Given the description of an element on the screen output the (x, y) to click on. 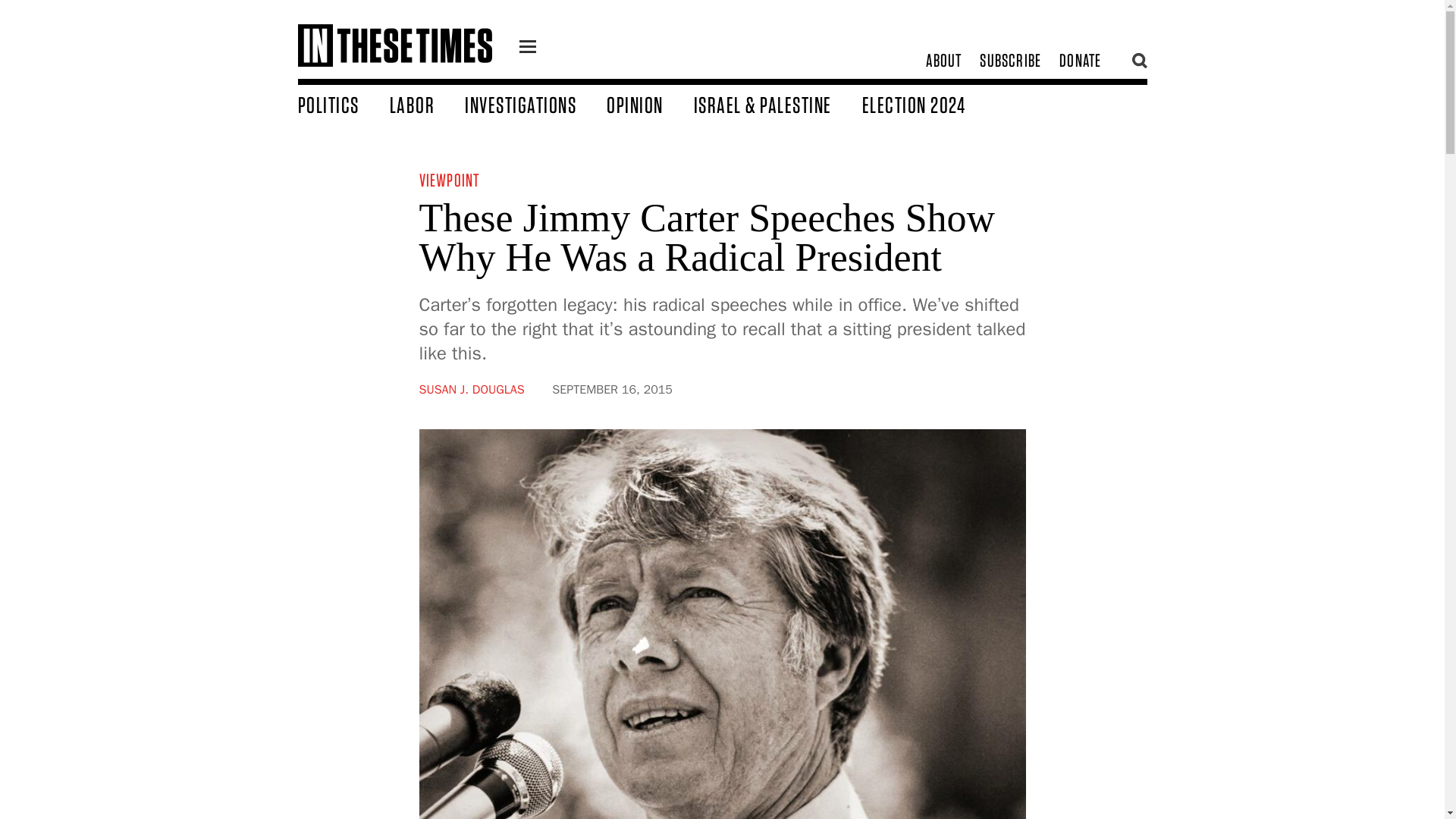
INVESTIGATIONS (535, 103)
POLITICS (342, 103)
SUBSCRIBE (1010, 60)
ELECTION 2024 (928, 103)
ABOUT (944, 60)
SUSAN J. DOUGLAS (471, 389)
VIEWPOINT (449, 179)
OPINION (650, 103)
DONATE (1079, 60)
LABOR (427, 103)
